Given the description of an element on the screen output the (x, y) to click on. 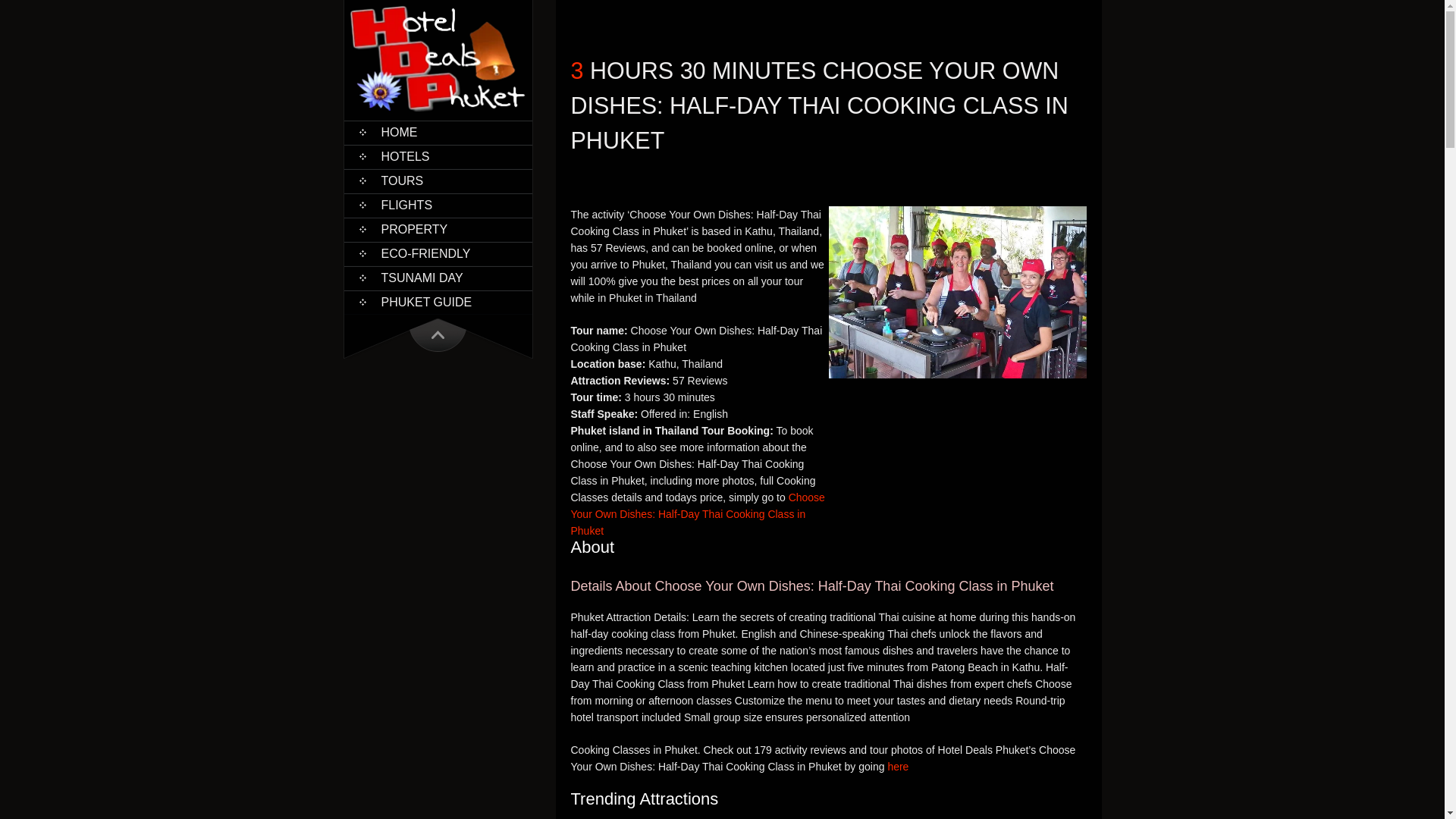
ECO-FRIENDLY (437, 253)
HOME (437, 132)
PROPERTY (437, 229)
FLIGHTS (437, 205)
PHUKET GUIDE (437, 302)
HOTELS (437, 156)
here (897, 766)
TSUNAMI DAY (437, 277)
TOURS (437, 180)
